Given the description of an element on the screen output the (x, y) to click on. 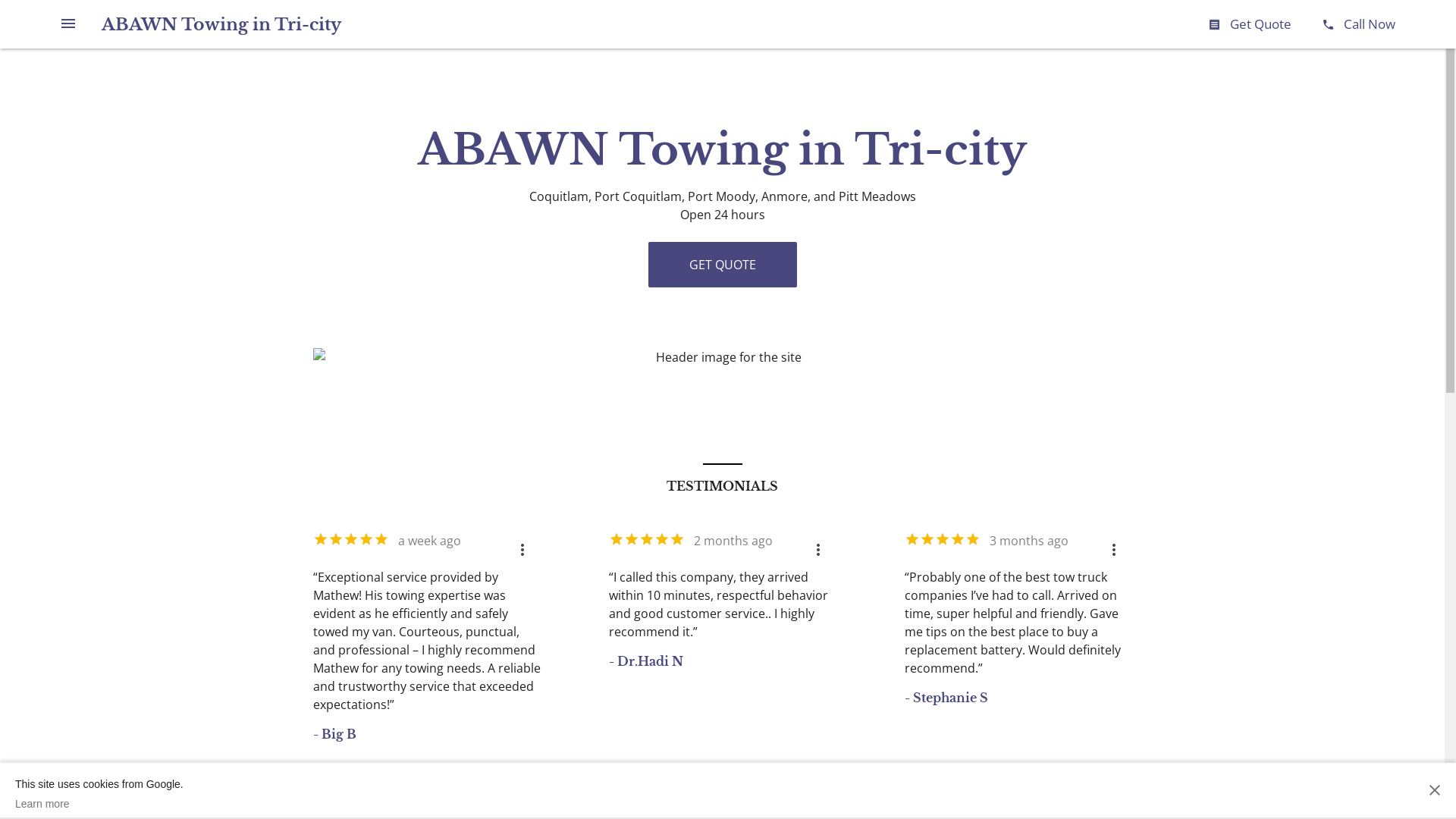
READ MORE Element type: text (780, 800)
GET QUOTE Element type: text (721, 264)
WRITE A REVIEW Element type: text (676, 800)
Learn more Element type: text (99, 803)
ABAWN Towing in Tri-city Element type: text (221, 23)
